Given the description of an element on the screen output the (x, y) to click on. 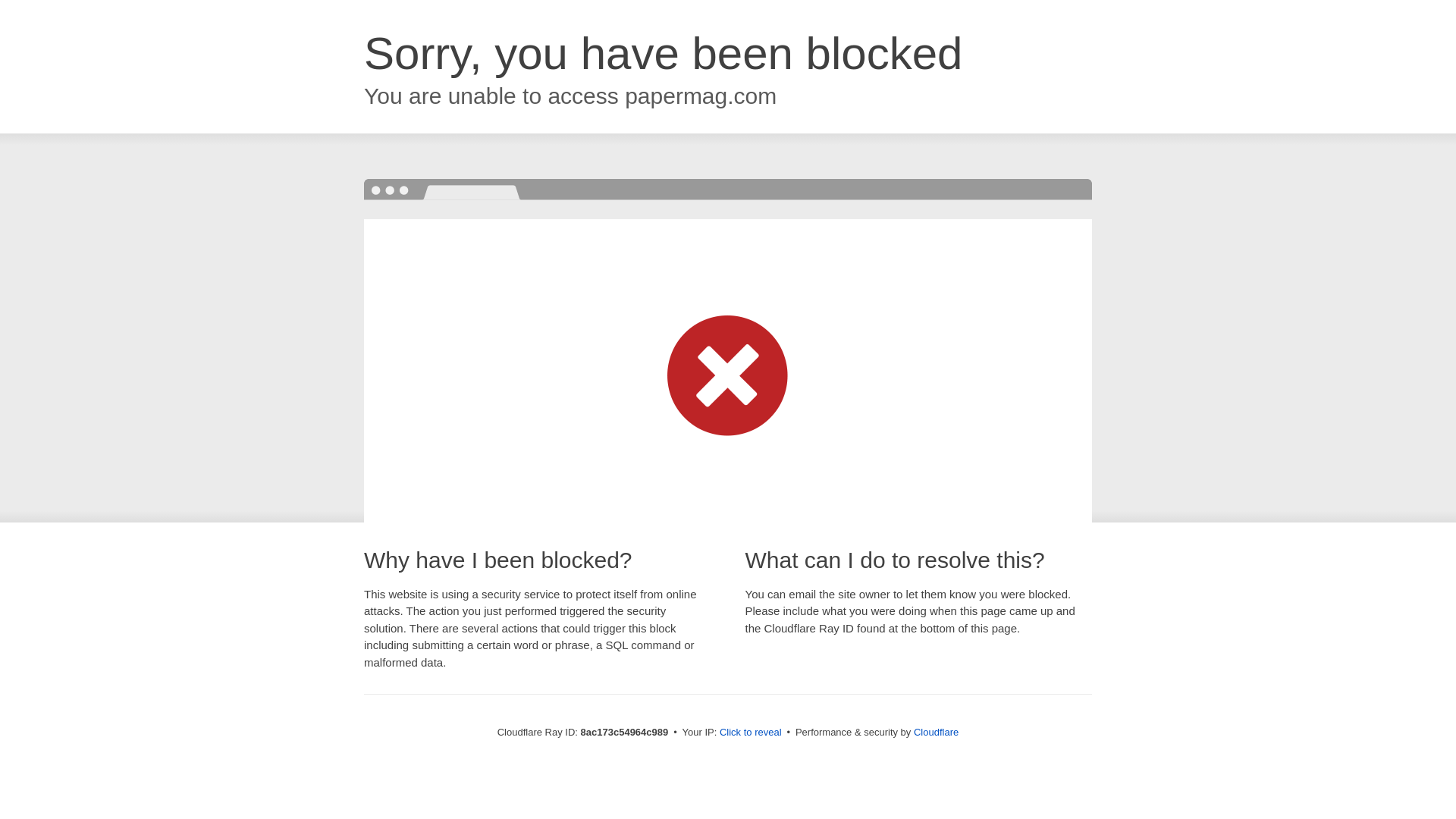
Click to reveal (750, 732)
Cloudflare (936, 731)
